Given the description of an element on the screen output the (x, y) to click on. 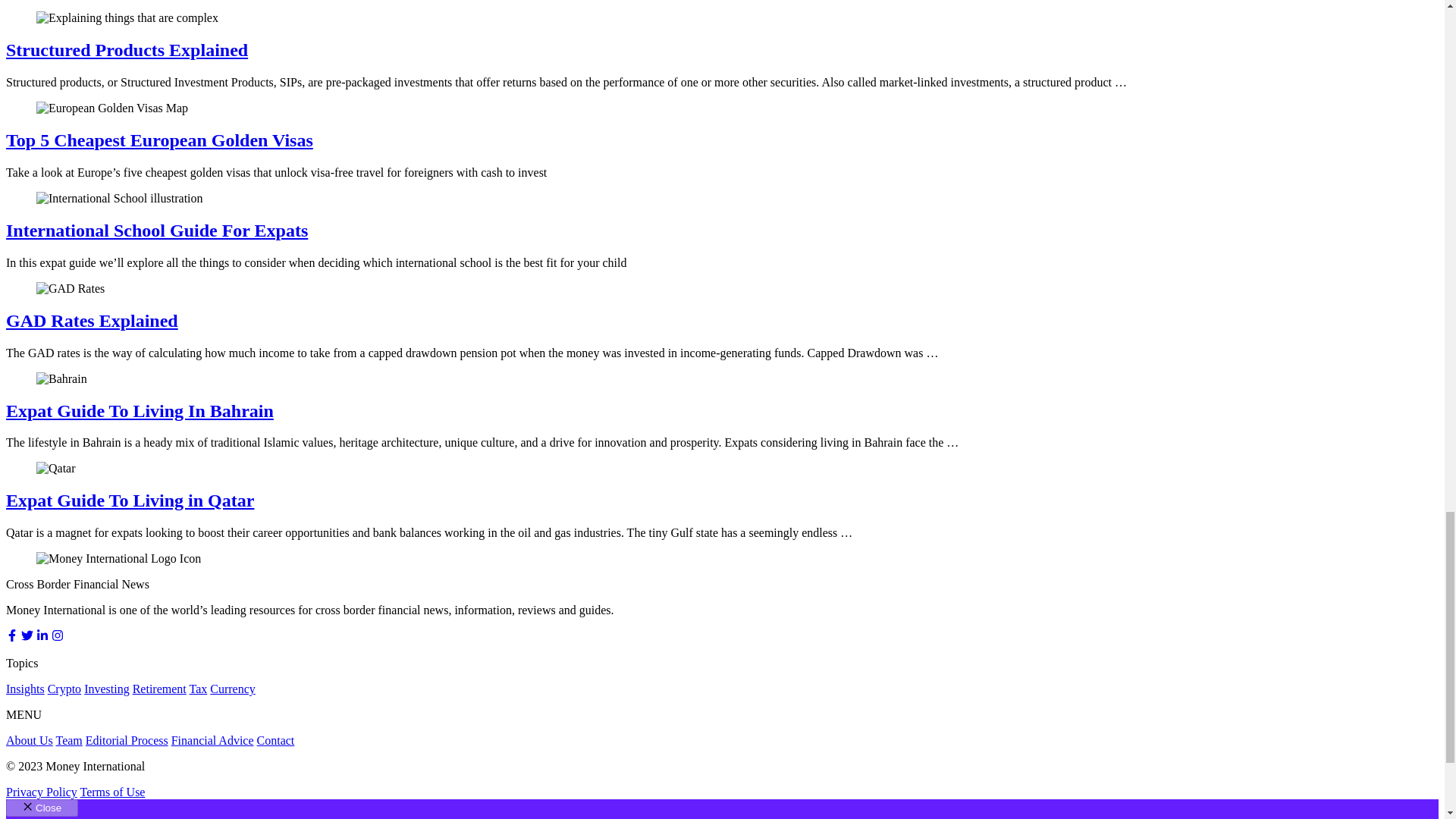
Retirement (159, 688)
Insights (25, 688)
Tax (197, 688)
Top 5 Cheapest European Golden Visas (159, 139)
Structured Products Explained (126, 49)
Investing (106, 688)
GAD Rates Explained (91, 320)
Currency (232, 688)
About Us (28, 739)
Crypto (64, 688)
Team (69, 739)
International School Guide For Expats (156, 230)
Expat Guide To Living in Qatar (129, 500)
Expat Guide To Living In Bahrain (139, 410)
